Given the description of an element on the screen output the (x, y) to click on. 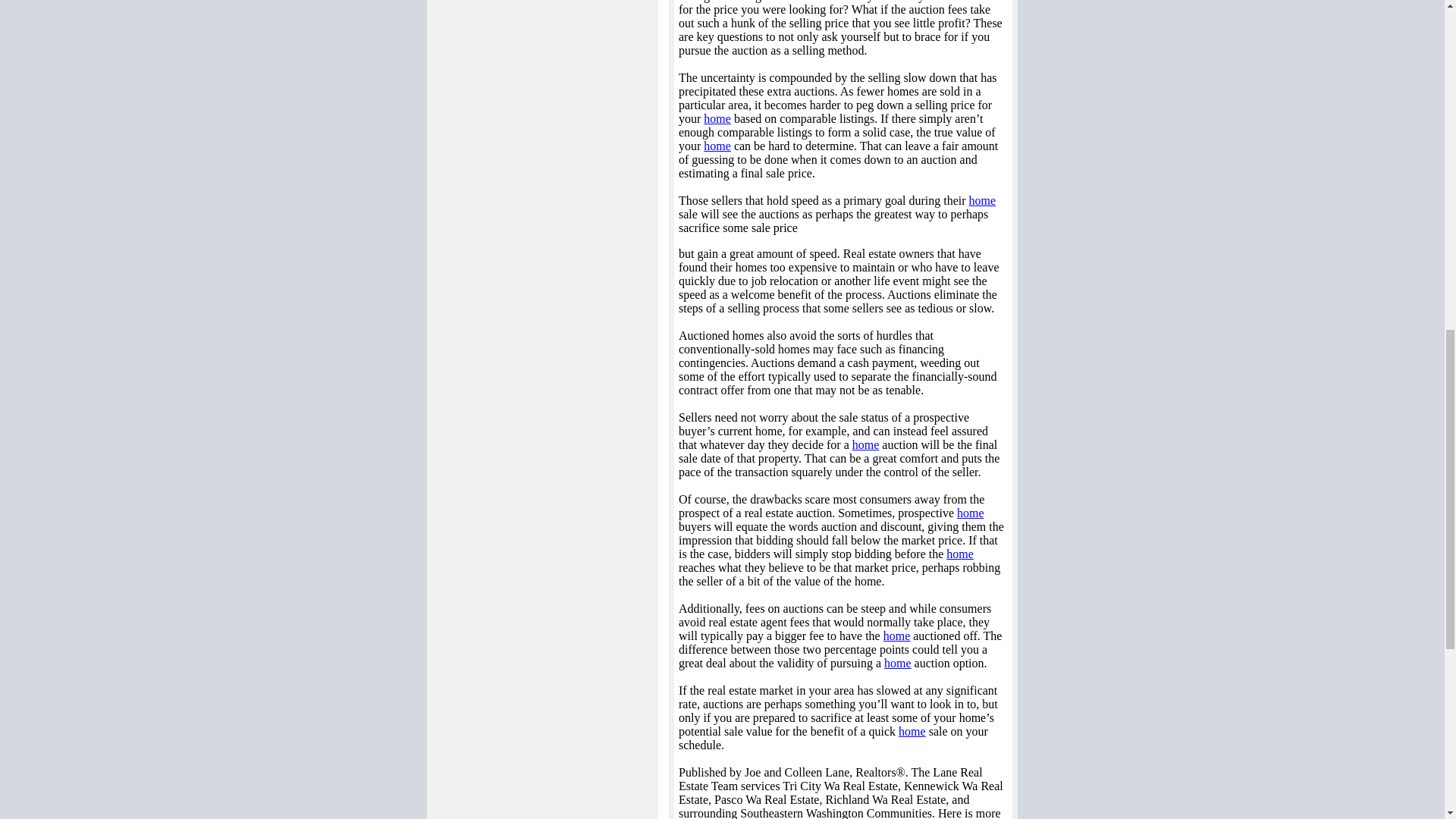
home (970, 512)
home (897, 662)
home (716, 118)
home (897, 635)
home (982, 200)
home (960, 553)
home (912, 730)
home (865, 444)
home (716, 145)
